Given the description of an element on the screen output the (x, y) to click on. 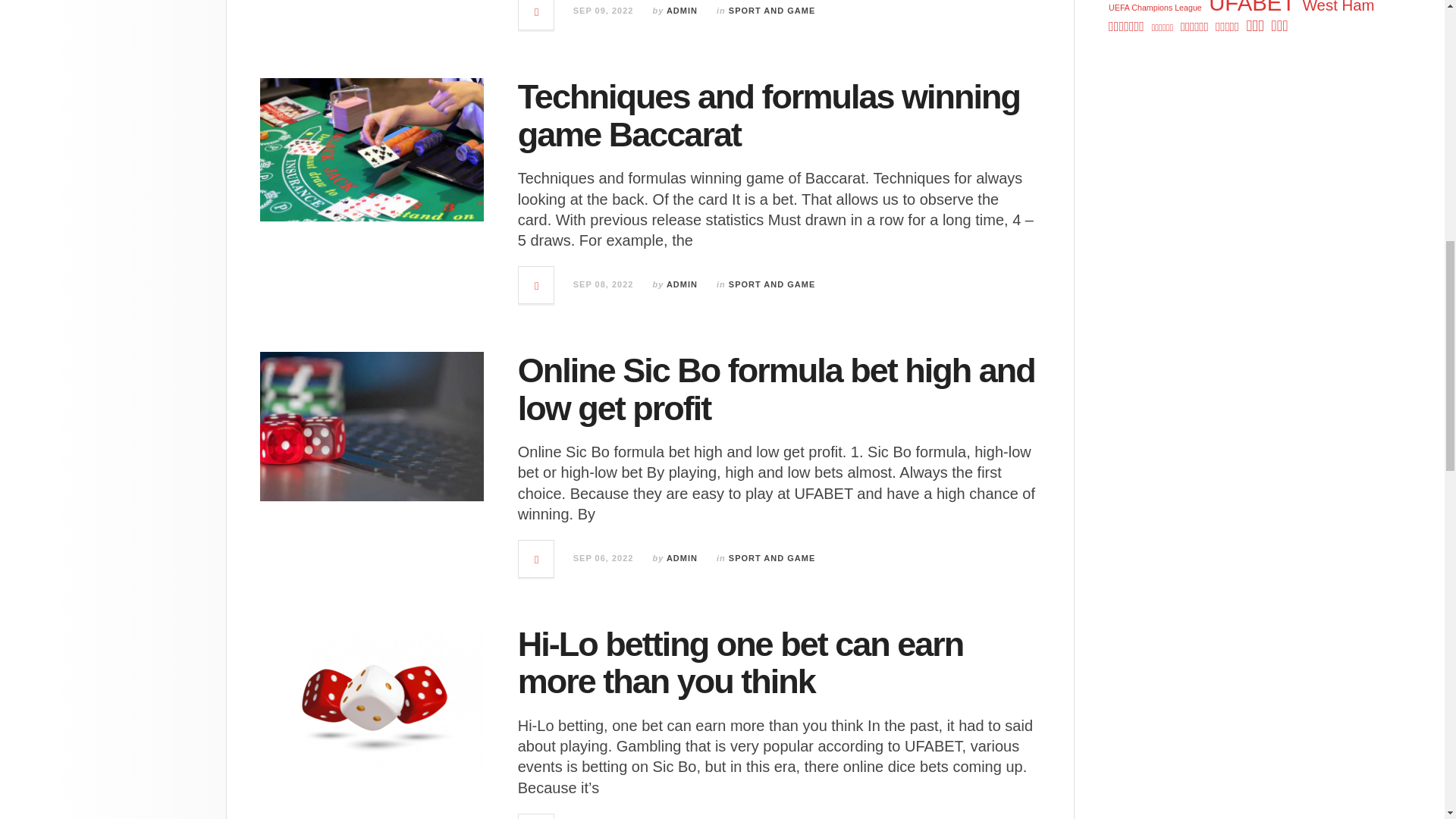
SPORT AND GAME (772, 284)
Techniques and formulas winning game Baccarat (769, 114)
ADMIN (681, 10)
Hi-Lo betting one bet can earn more than you think (740, 662)
SPORT AND GAME (772, 557)
Posts by admin (681, 10)
ADMIN (681, 284)
Read More... (536, 14)
ADMIN (681, 557)
View all posts in Sport and Game (772, 10)
Online Sic Bo formula bet high and low get profit (776, 389)
SPORT AND GAME (772, 10)
